Given the description of an element on the screen output the (x, y) to click on. 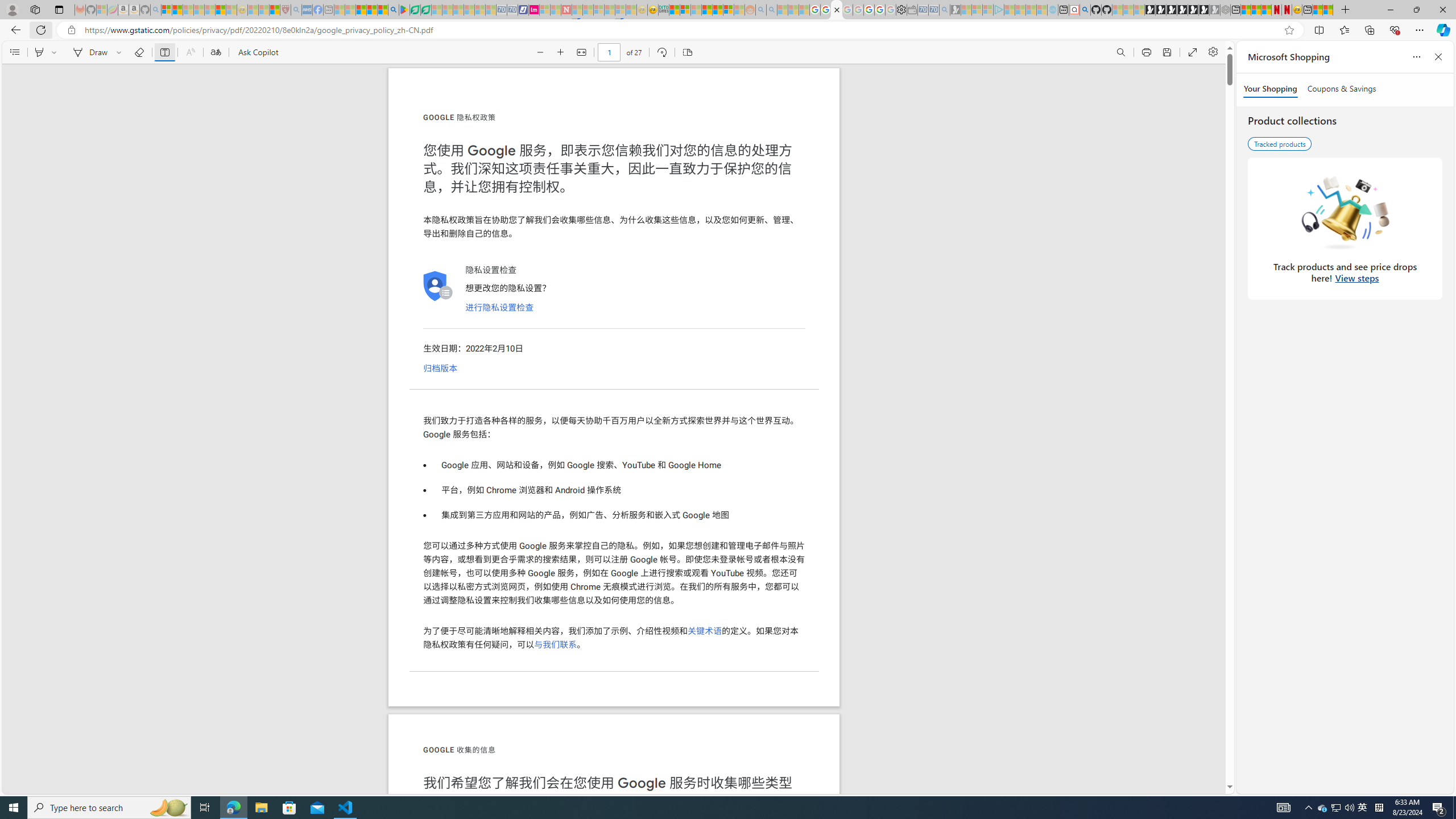
PDF bar (613, 51)
Zoom in (Ctrl+Plus key) (561, 52)
